Given the description of an element on the screen output the (x, y) to click on. 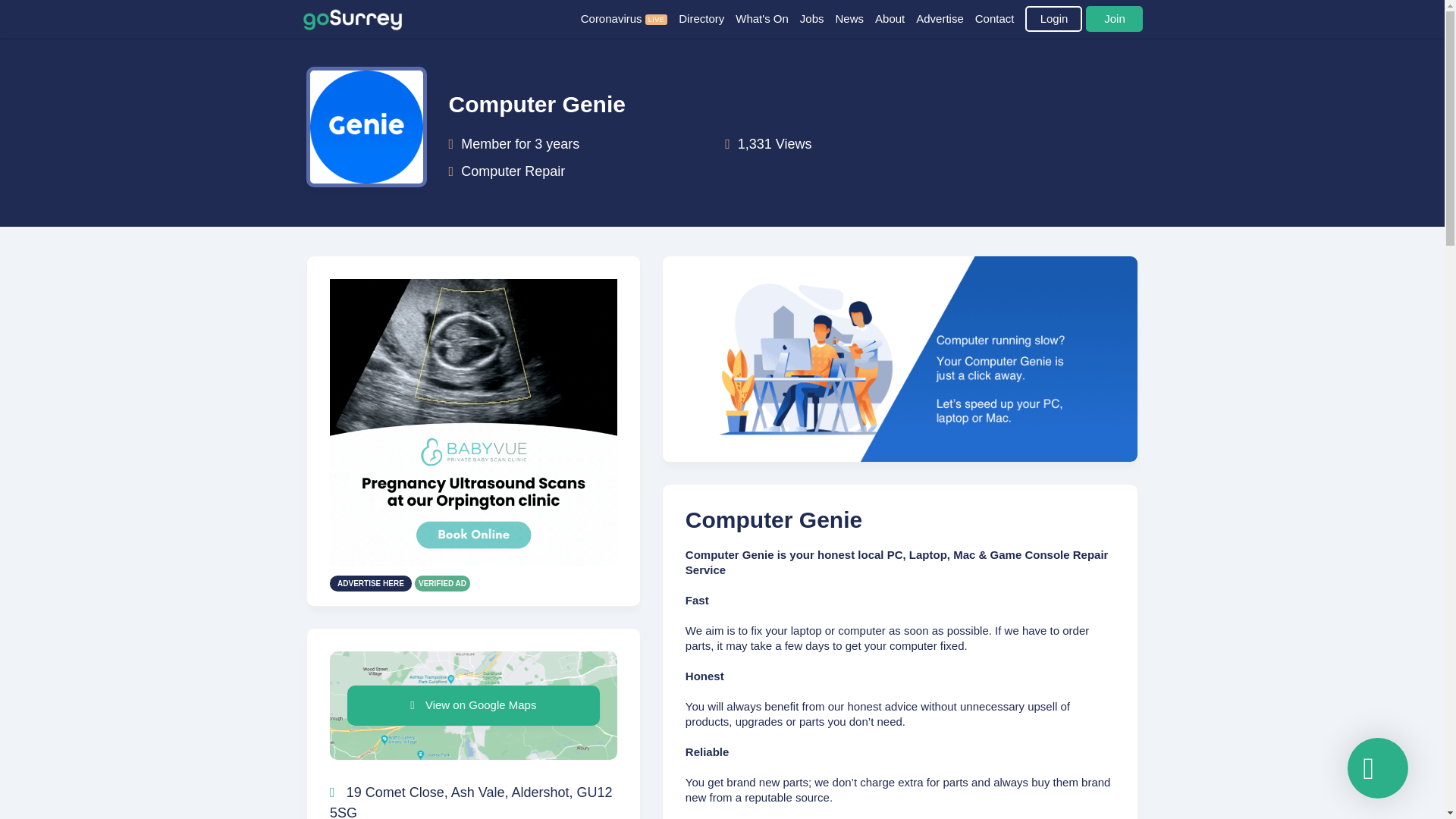
Surrey Jobs (817, 18)
ADVERTISE HERE VERIFIED AD (473, 649)
Advertise Here (473, 649)
Surrey News (855, 18)
What's on in Surrey (767, 18)
Jobs (817, 18)
Login (1053, 18)
About (895, 18)
About Go Surrey (895, 18)
Babyvue Pregnancy Ultrasound Scans (473, 420)
Join (1114, 18)
Login (1053, 18)
News (855, 18)
Surrey Business Directory (706, 18)
Contact Go Surrey (1000, 18)
